Given the description of an element on the screen output the (x, y) to click on. 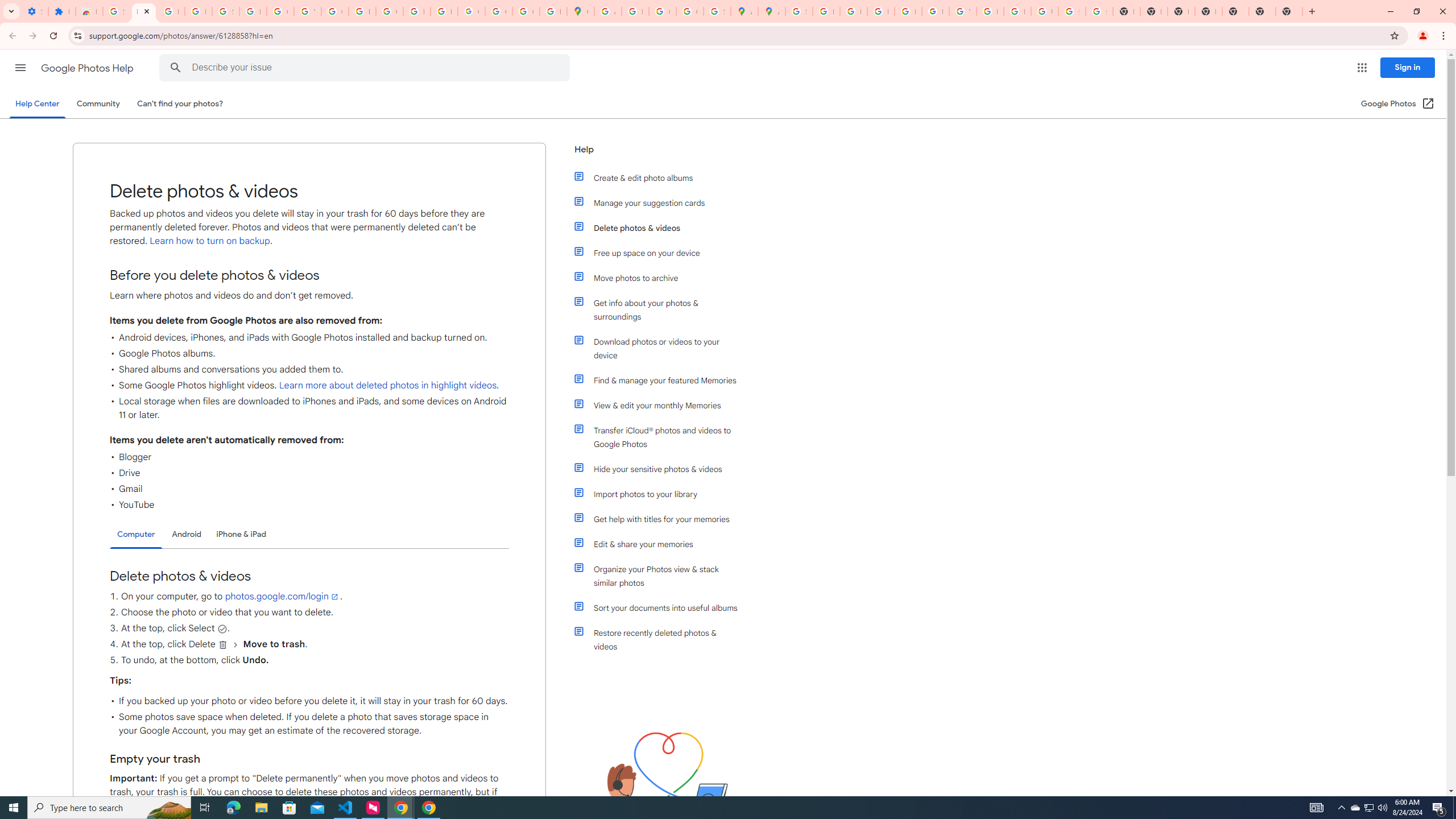
YouTube (307, 11)
Create your Google Account (662, 11)
Search Help Center (176, 67)
New Tab (1262, 11)
Main menu (20, 67)
Delete (223, 644)
Learn more about deleted photos in highlight videos (387, 385)
